Given the description of an element on the screen output the (x, y) to click on. 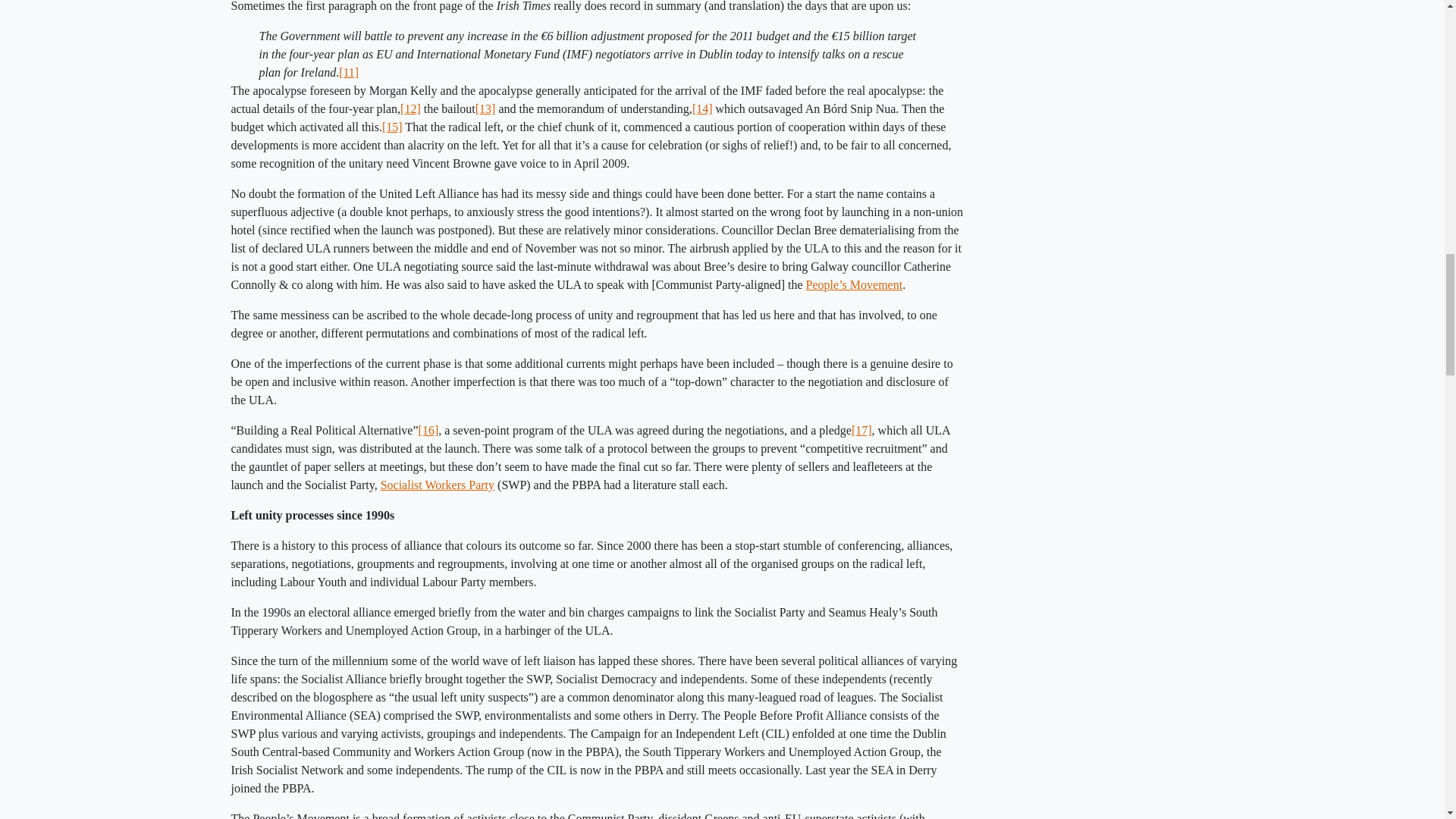
Socialist Workers Party (437, 484)
